Given the description of an element on the screen output the (x, y) to click on. 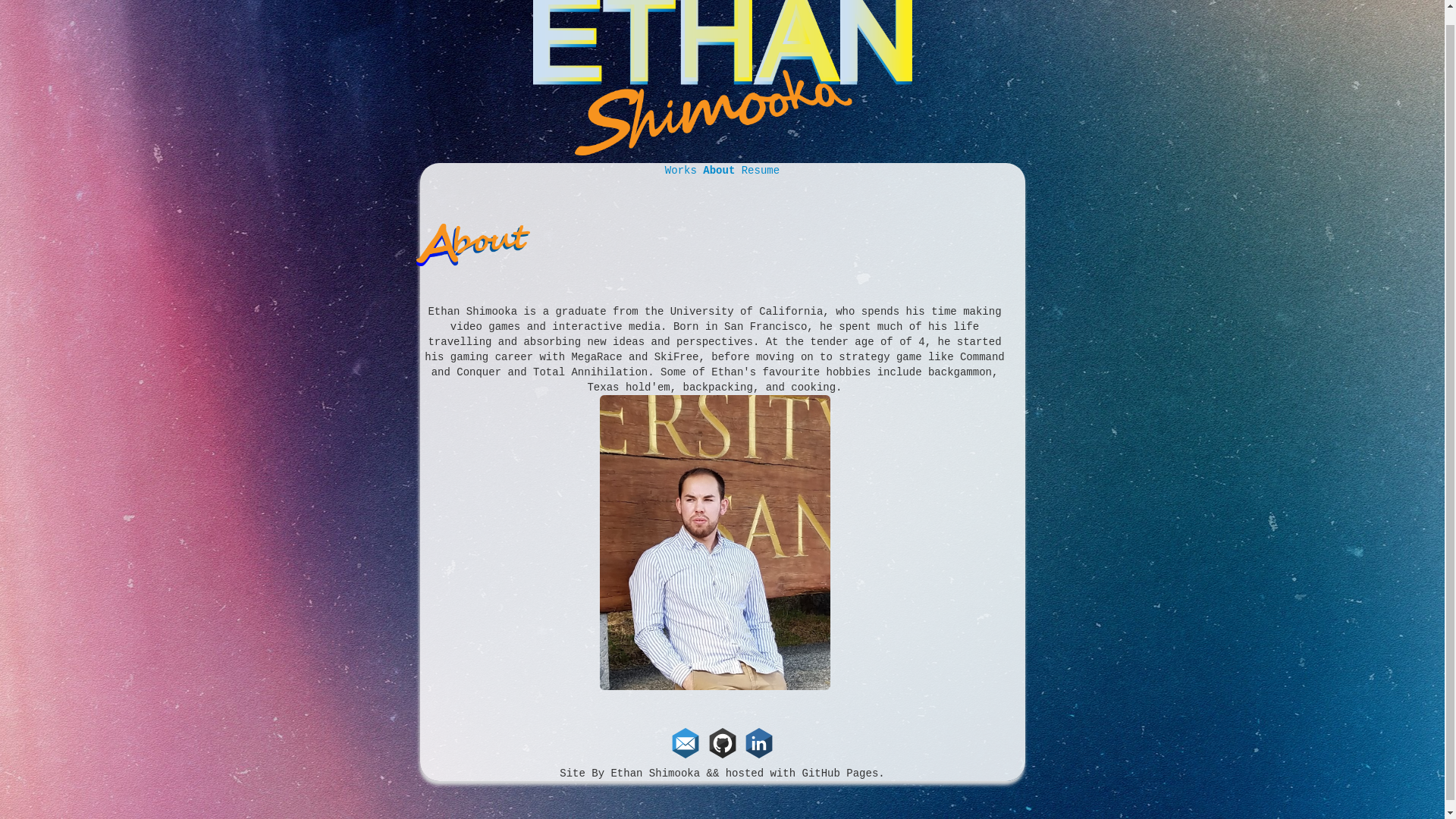
Works (684, 170)
Resume (759, 170)
About (722, 170)
